Given the description of an element on the screen output the (x, y) to click on. 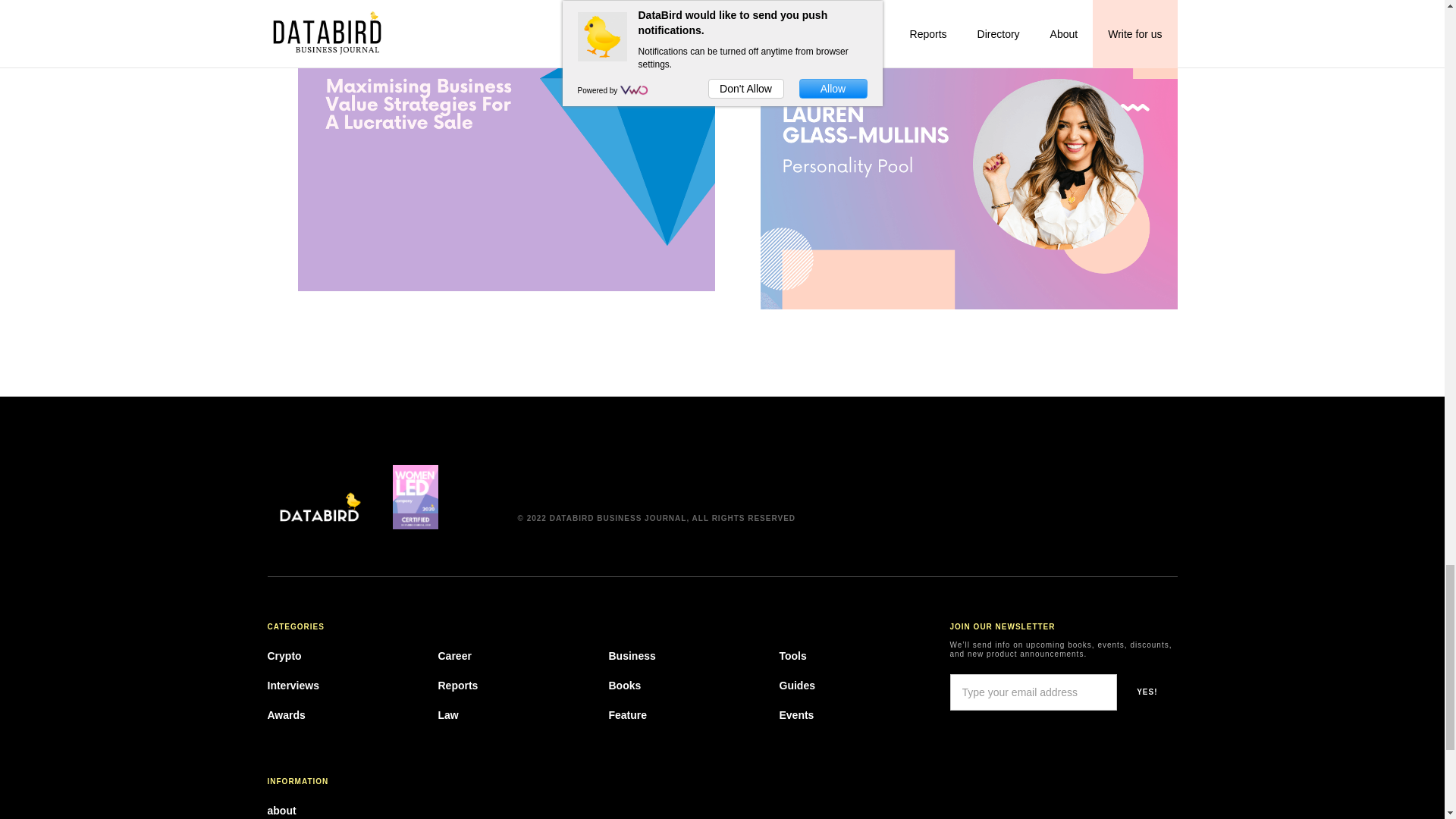
INTERVIEWS (786, 9)
FEATURE (317, 0)
YES! (1146, 692)
